Given the description of an element on the screen output the (x, y) to click on. 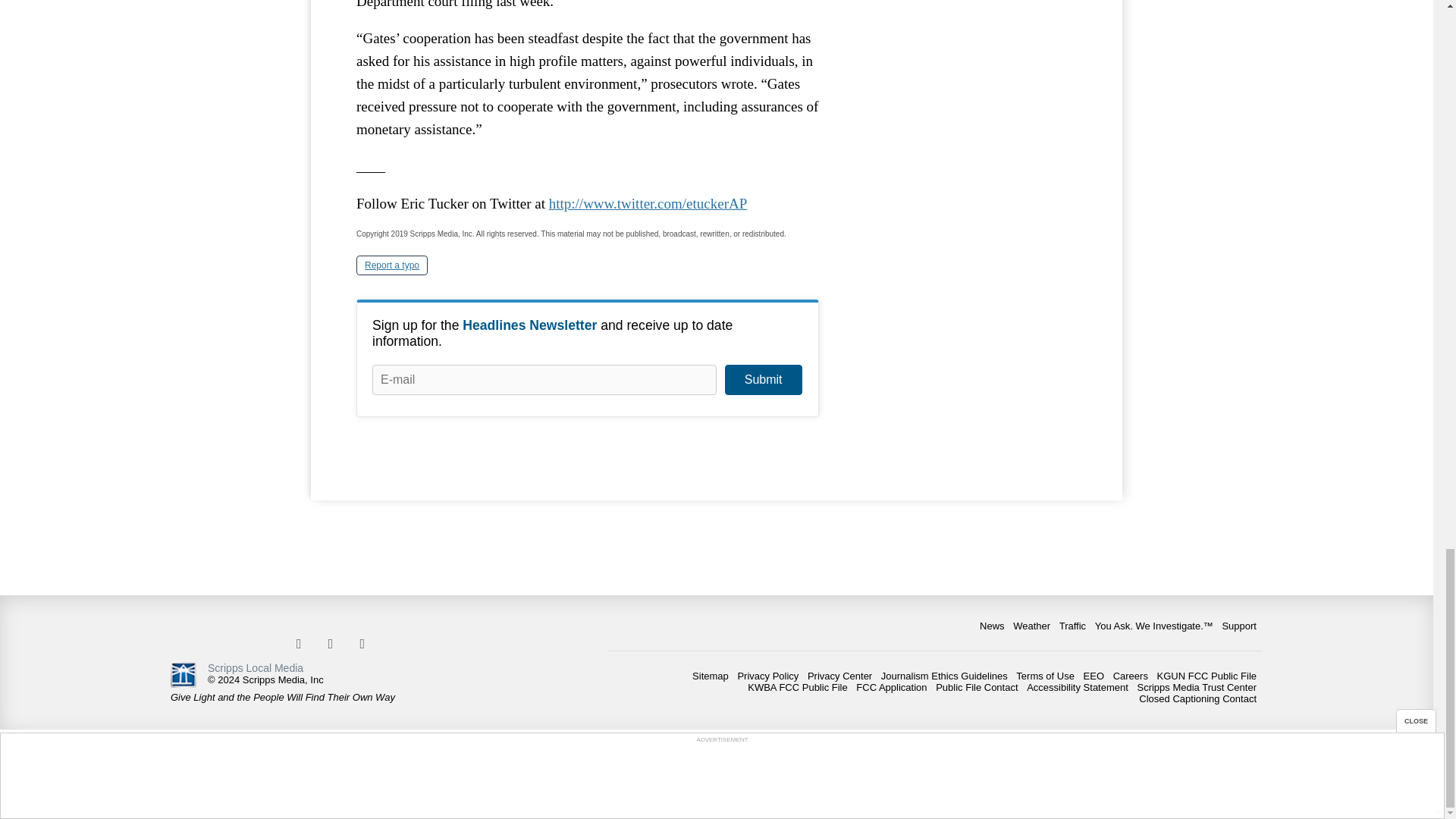
Submit (763, 379)
